Given the description of an element on the screen output the (x, y) to click on. 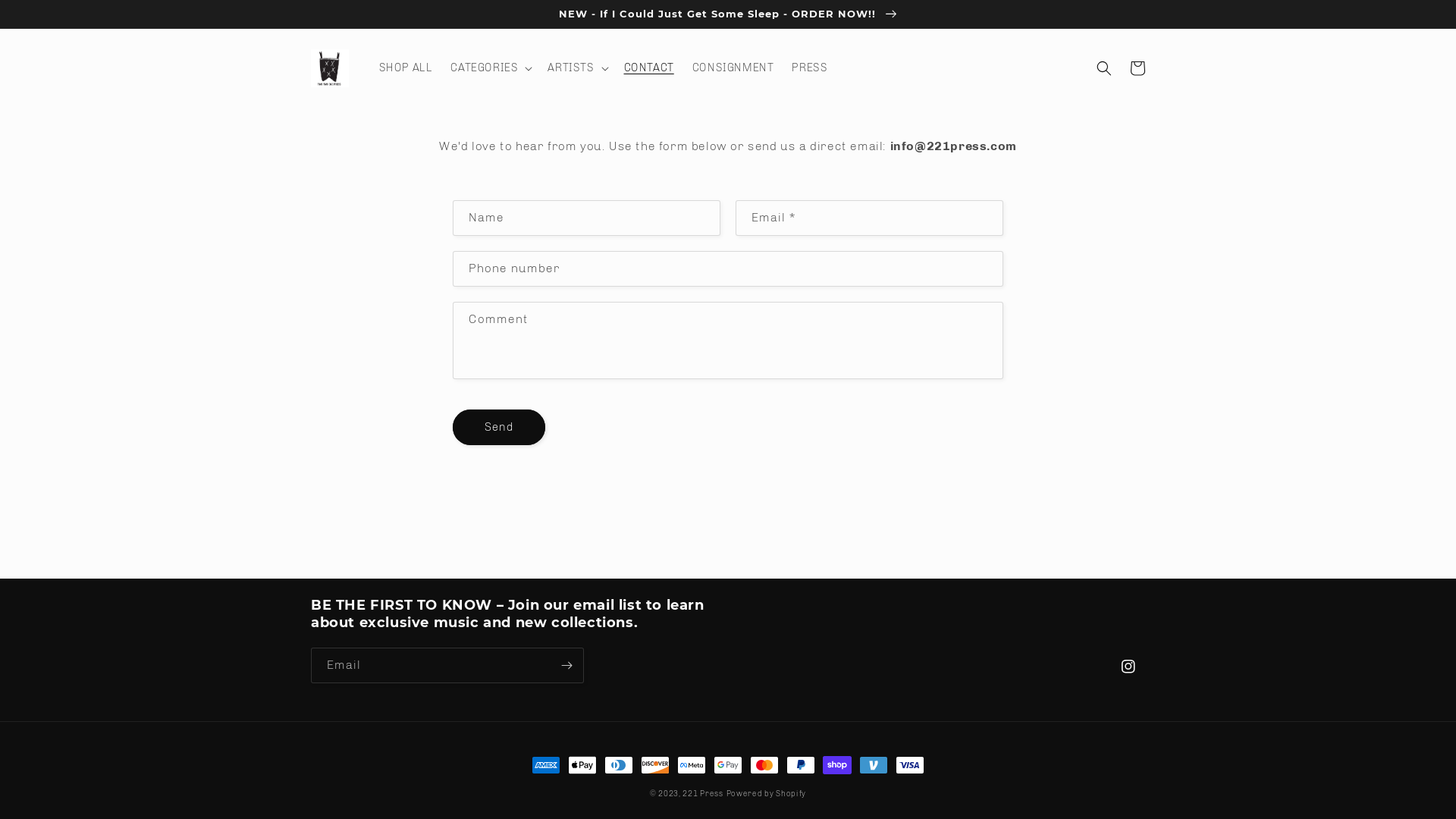
Cart Element type: text (1137, 67)
Send Element type: text (498, 427)
Instagram Element type: text (1128, 666)
PRESS Element type: text (809, 68)
221 Press Element type: text (702, 793)
Powered by Shopify Element type: text (766, 793)
SHOP ALL Element type: text (406, 68)
CONTACT Element type: text (649, 68)
CONSIGNMENT Element type: text (733, 68)
